Given the description of an element on the screen output the (x, y) to click on. 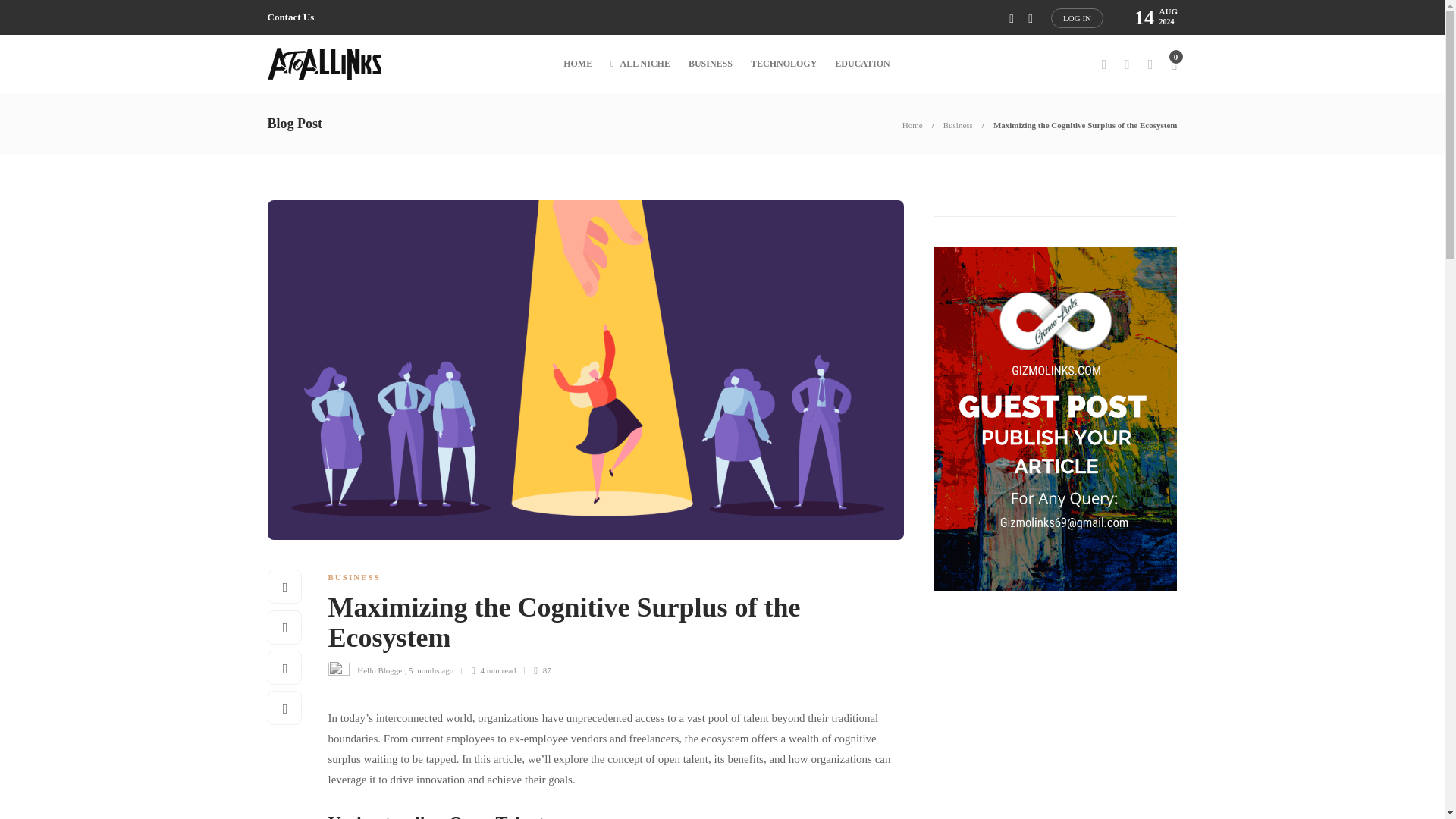
EDUCATION (861, 63)
Business (957, 124)
ALL NICHE (639, 63)
Maximizing the Cognitive Surplus of the Ecosystem  (603, 626)
Contact Us (290, 17)
Hello Blogger (380, 669)
BUSINESS (353, 576)
LOG IN (1077, 17)
Maximizing the Cognitive Surplus of the Ecosystem (1084, 124)
TECHNOLOGY (783, 63)
